Given the description of an element on the screen output the (x, y) to click on. 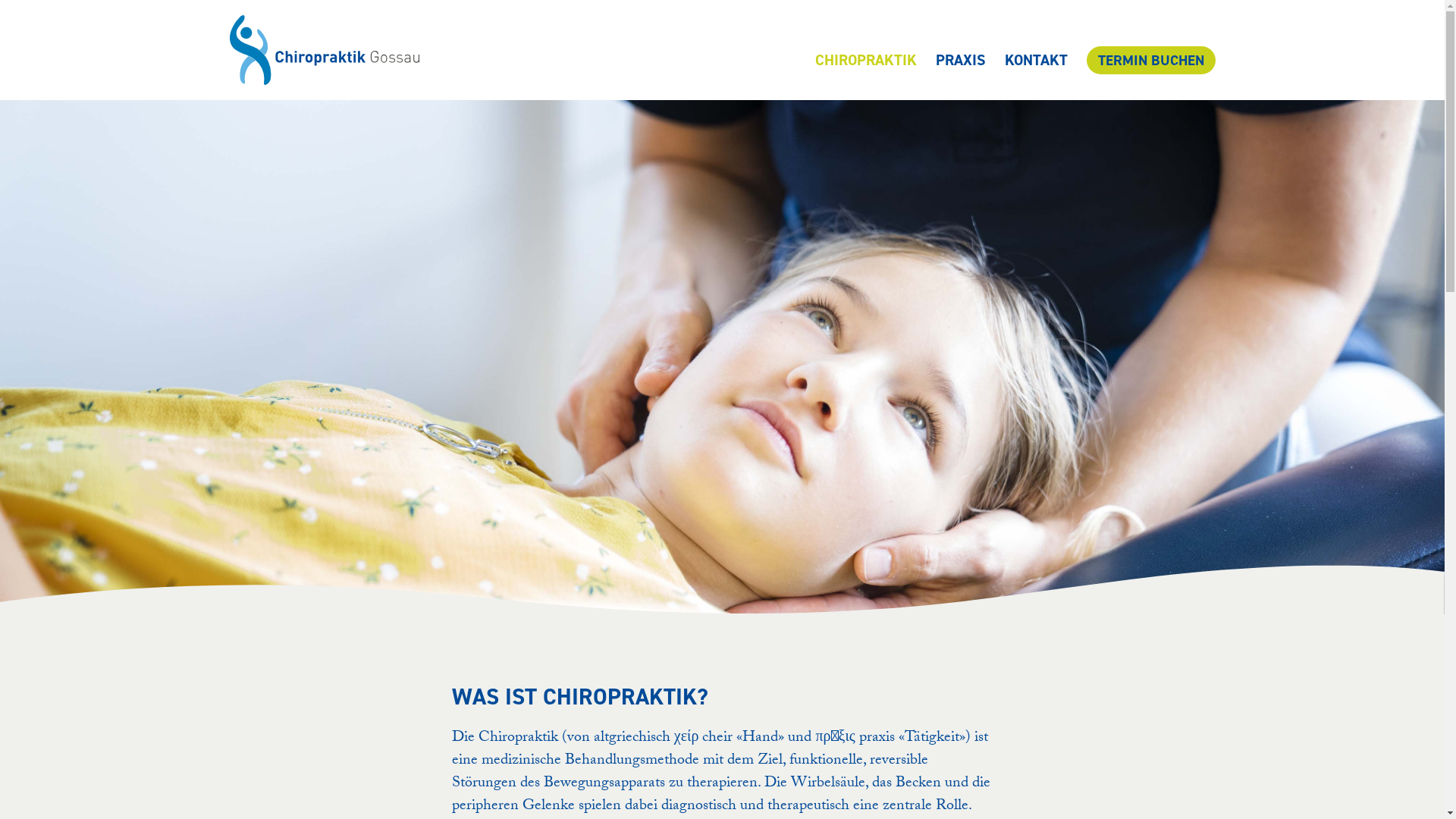
TERMIN BUCHEN Element type: text (1149, 60)
KONTAKT Element type: text (1035, 59)
PRAXIS Element type: text (960, 59)
CHIROPRAKTIK Element type: text (865, 59)
